Given the description of an element on the screen output the (x, y) to click on. 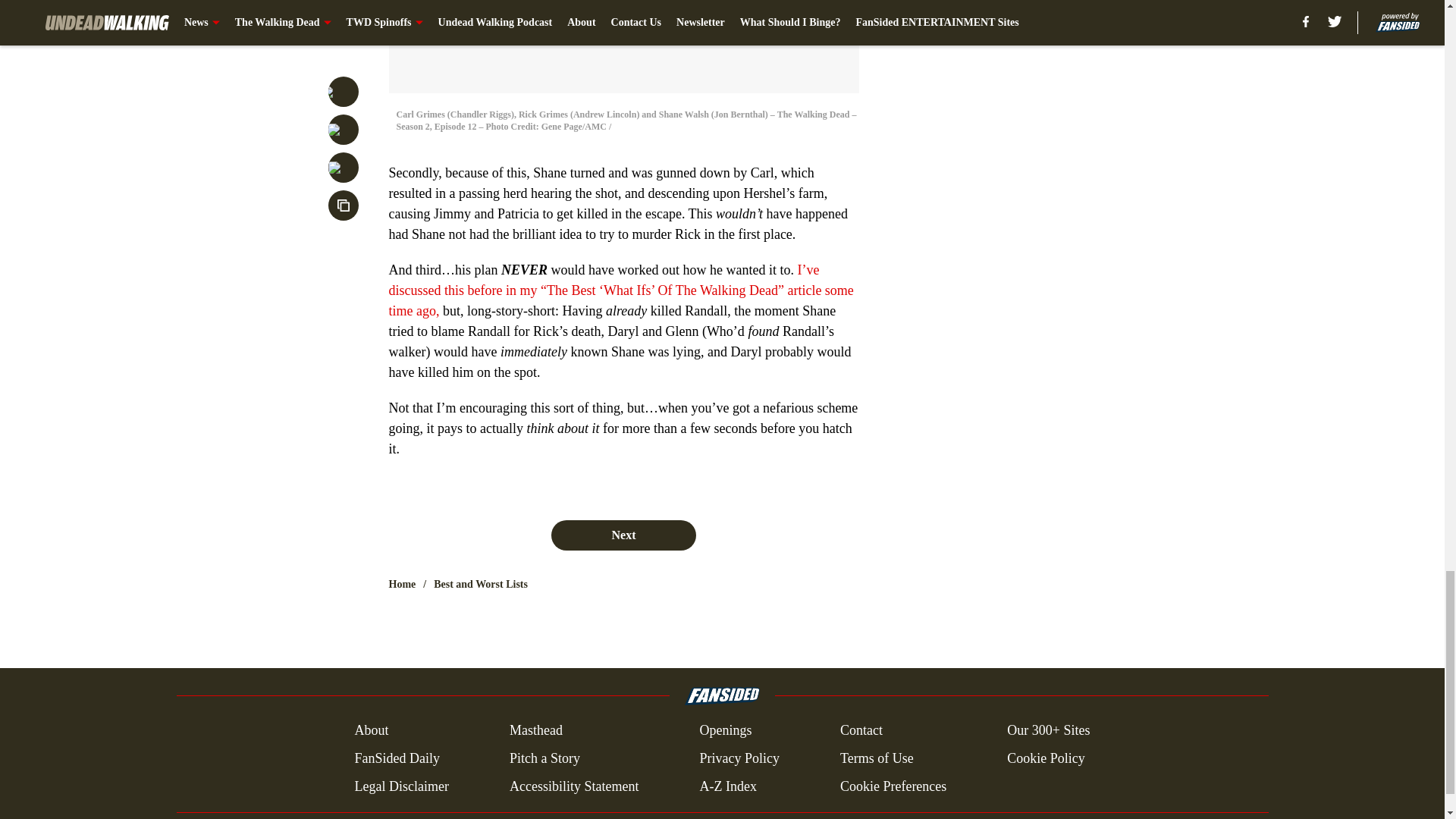
Home (401, 584)
Masthead (535, 730)
About (370, 730)
Best and Worst Lists (480, 584)
Next (622, 535)
